Given the description of an element on the screen output the (x, y) to click on. 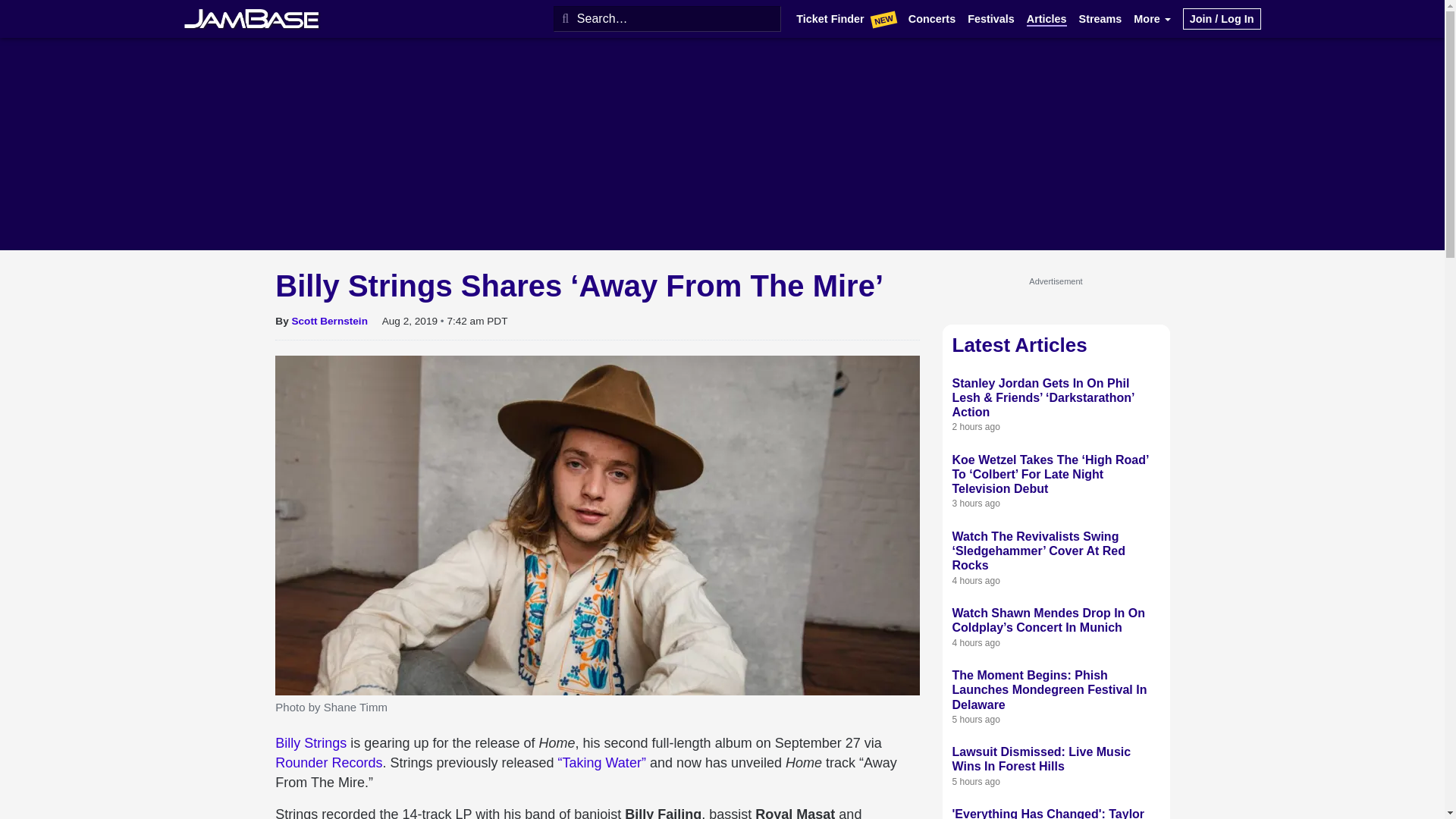
Billy Strings (310, 743)
Articles (1046, 18)
Concerts (931, 18)
More (1152, 19)
Ticket Finder NEW (845, 19)
Rounder Records (328, 762)
Scott Bernstein (328, 320)
Streams (1100, 18)
Festivals (991, 18)
